Given the description of an element on the screen output the (x, y) to click on. 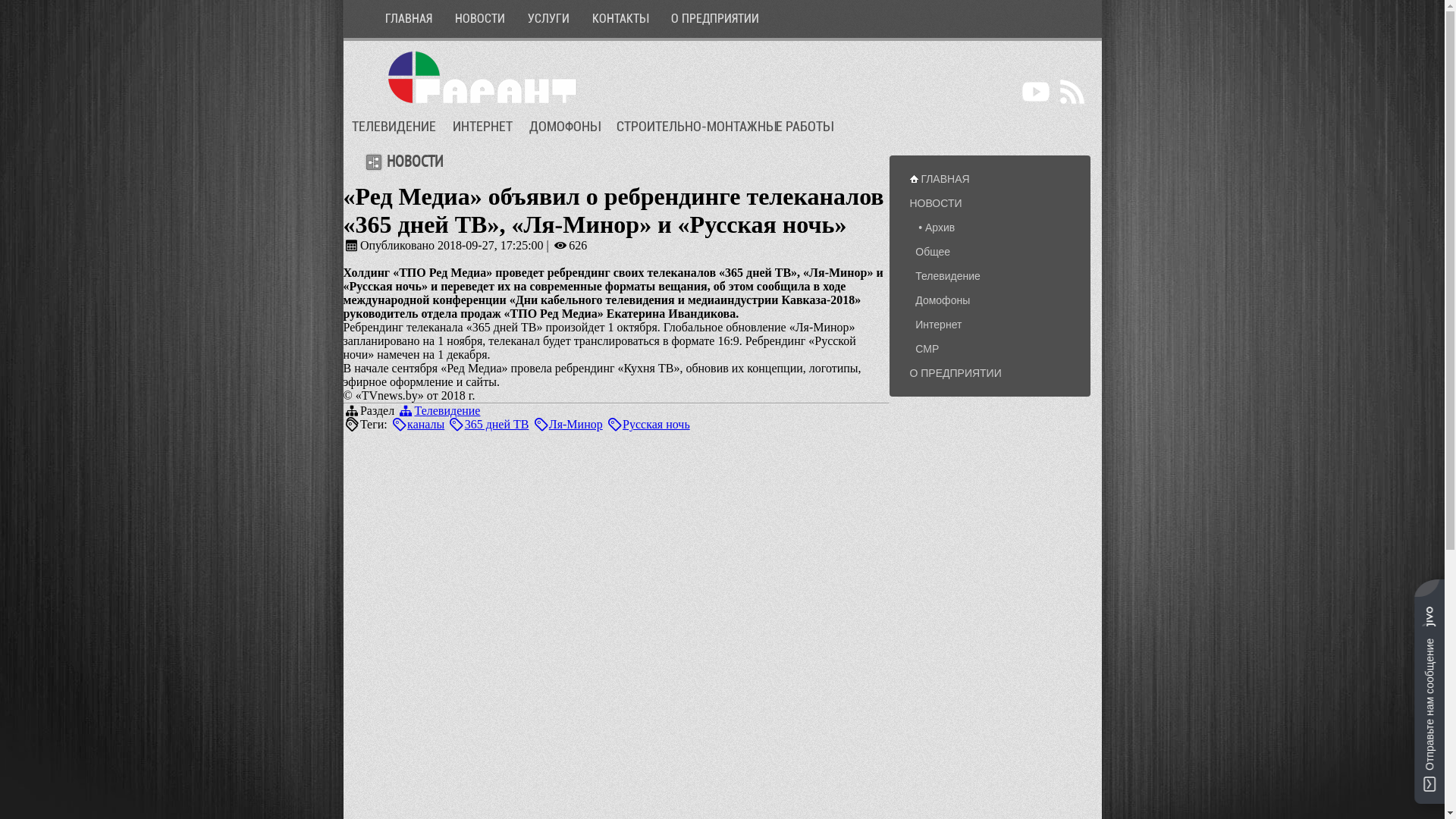
RSS Feed Element type: hover (1072, 91)
YouTube Element type: hover (1035, 91)
